Given the description of an element on the screen output the (x, y) to click on. 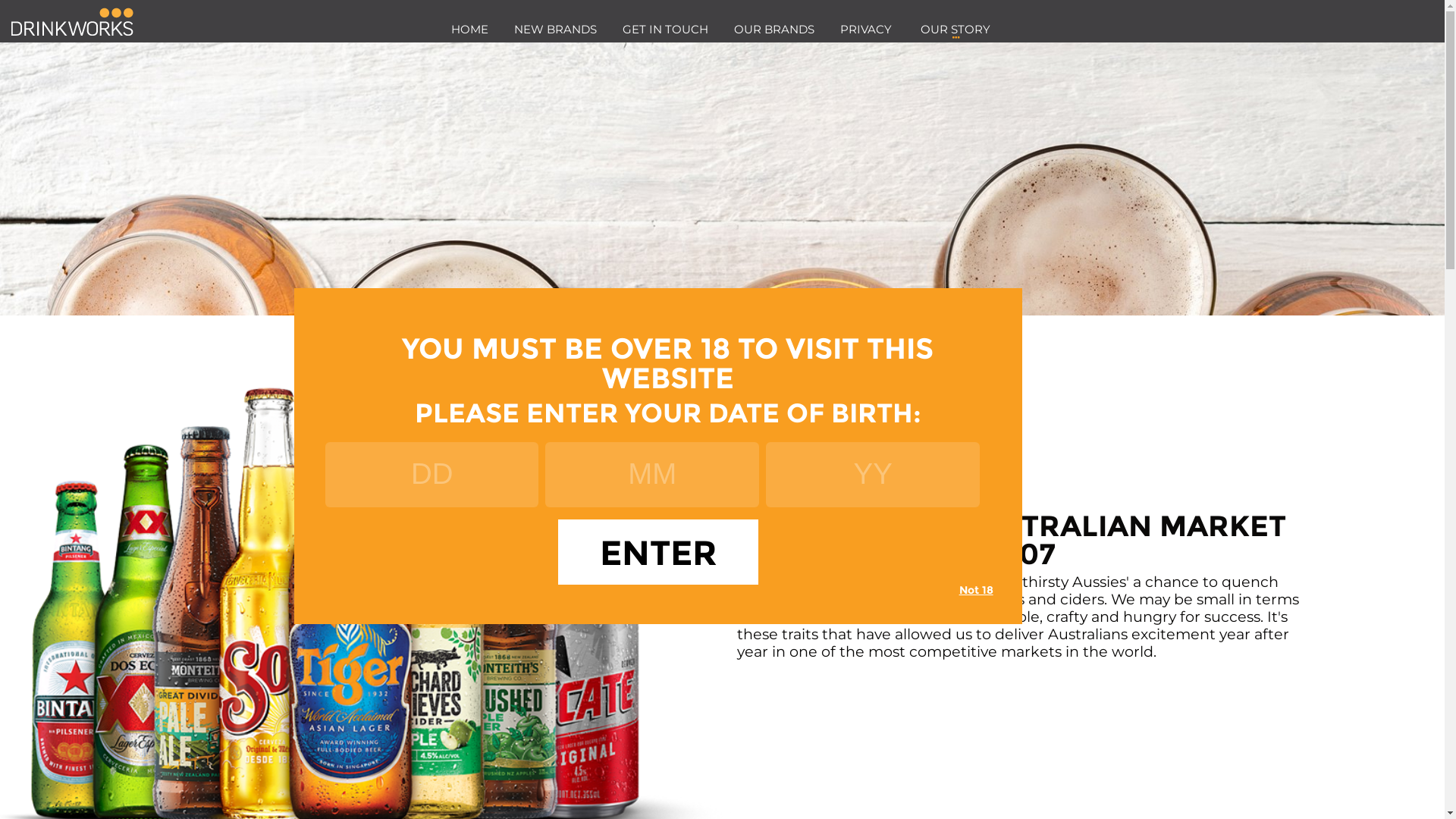
OUR STORY Element type: text (954, 33)
ENTER Element type: text (658, 551)
Not 18 Element type: text (976, 589)
HOME Element type: text (469, 28)
OUR BRANDS Element type: text (773, 28)
GET IN TOUCH Element type: text (665, 28)
NEW BRANDS Element type: text (554, 28)
PRIVACY Element type: text (864, 28)
DRINKWORKS Element type: text (72, 21)
